Given the description of an element on the screen output the (x, y) to click on. 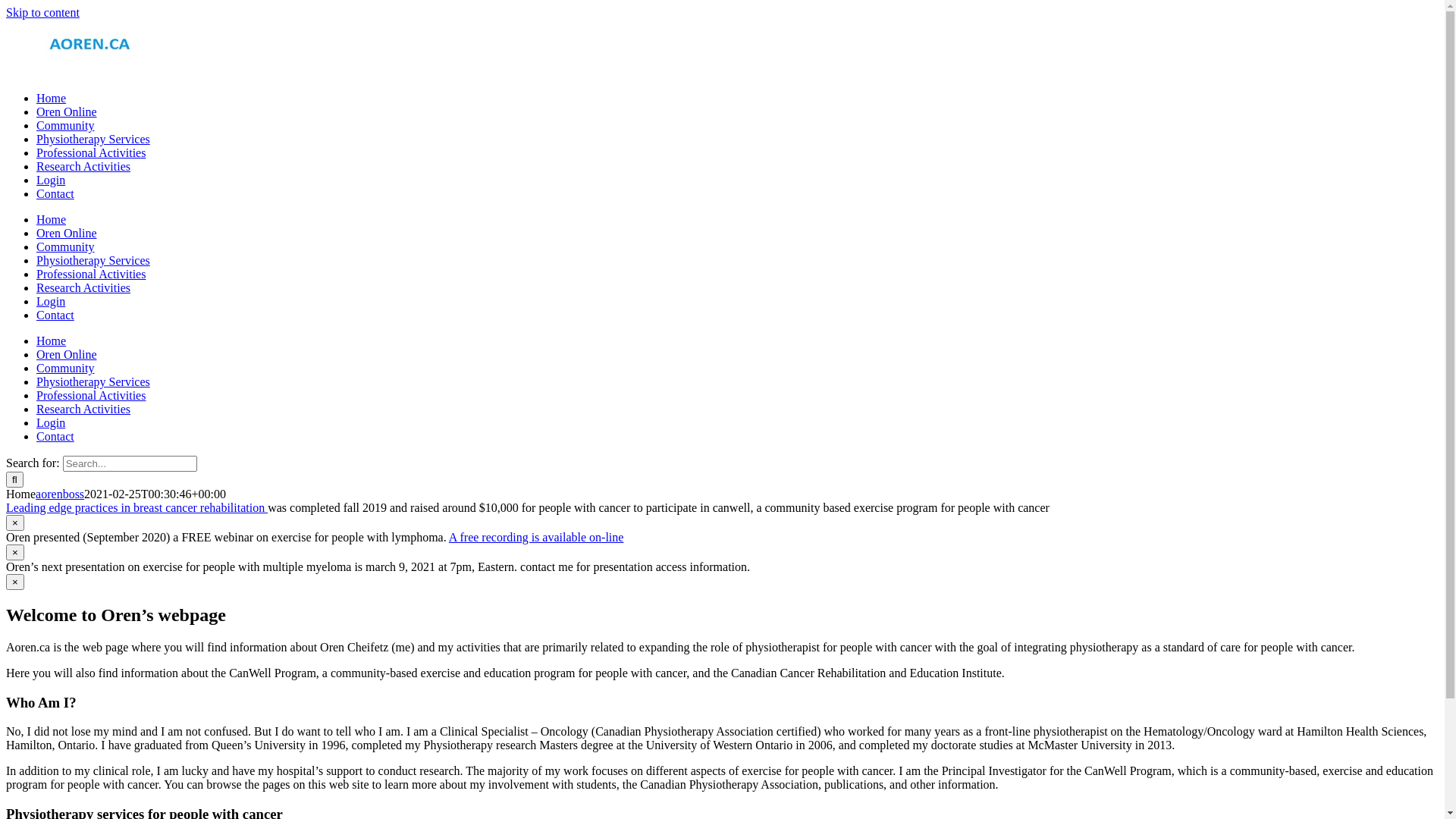
Research Activities Element type: text (83, 408)
Professional Activities Element type: text (90, 152)
Oren Online Element type: text (66, 232)
Physiotherapy Services Element type: text (93, 138)
A free recording is available on-line Element type: text (536, 536)
Community Element type: text (65, 367)
Professional Activities Element type: text (90, 395)
Community Element type: text (65, 125)
Login Element type: text (50, 300)
Research Activities Element type: text (83, 166)
Contact Element type: text (55, 314)
aorenboss Element type: text (59, 493)
Physiotherapy Services Element type: text (93, 381)
Research Activities Element type: text (83, 287)
Contact Element type: text (55, 435)
Login Element type: text (50, 422)
Login Element type: text (50, 179)
Leading edge practices in breast cancer rehabilitation Element type: text (136, 507)
Home Element type: text (50, 340)
Home Element type: text (50, 97)
Oren Online Element type: text (66, 111)
Physiotherapy Services Element type: text (93, 260)
Oren Online Element type: text (66, 354)
Skip to content Element type: text (42, 12)
Home Element type: text (50, 219)
Contact Element type: text (55, 193)
Professional Activities Element type: text (90, 273)
Community Element type: text (65, 246)
